Given the description of an element on the screen output the (x, y) to click on. 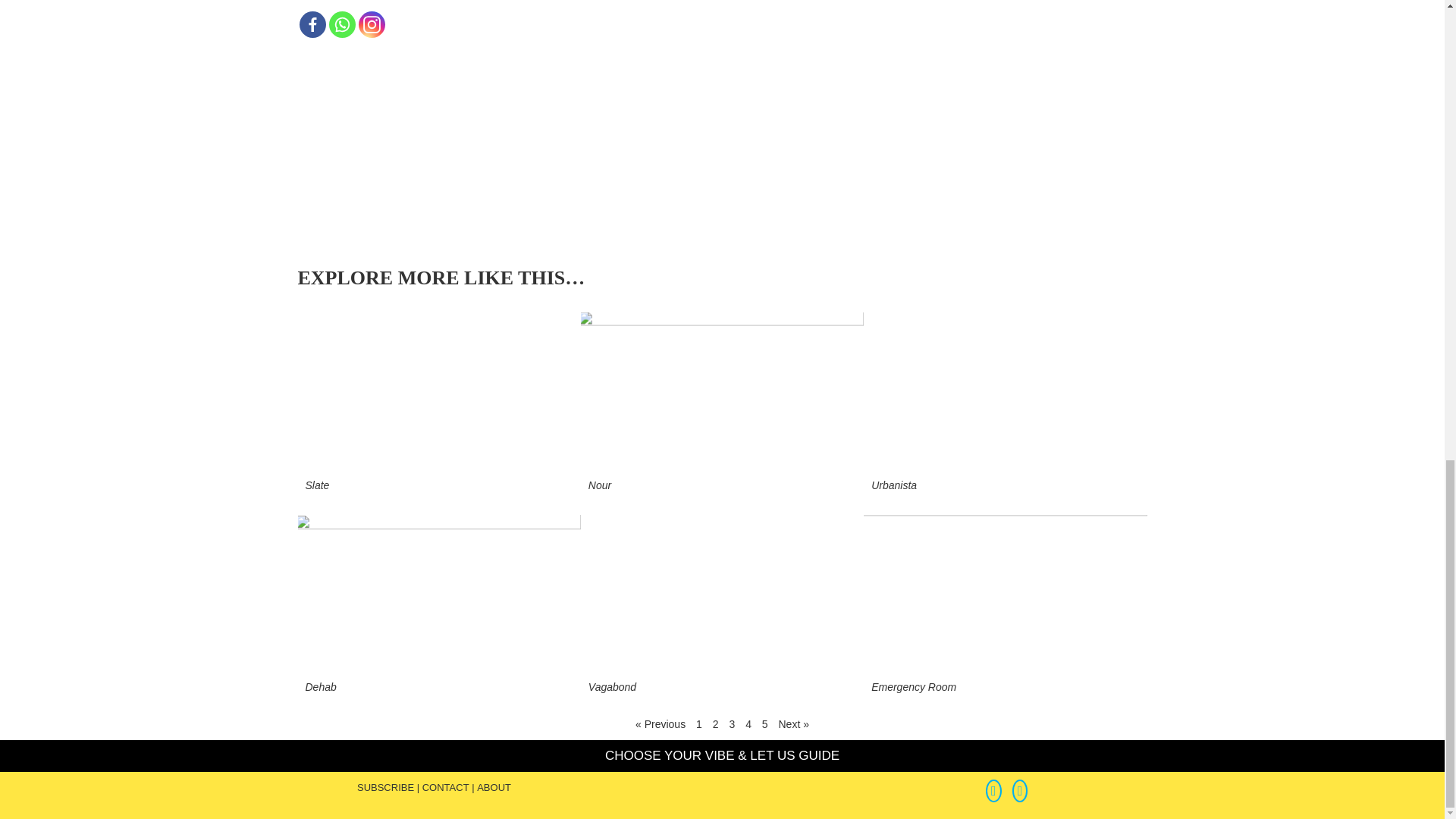
Instagram (371, 24)
Slate (316, 485)
Urbanista (893, 485)
Facebook (311, 24)
Dehab (320, 686)
Nour (599, 485)
33.8971381, 35.5251449 (959, 122)
Whatsapp (342, 24)
